Given the description of an element on the screen output the (x, y) to click on. 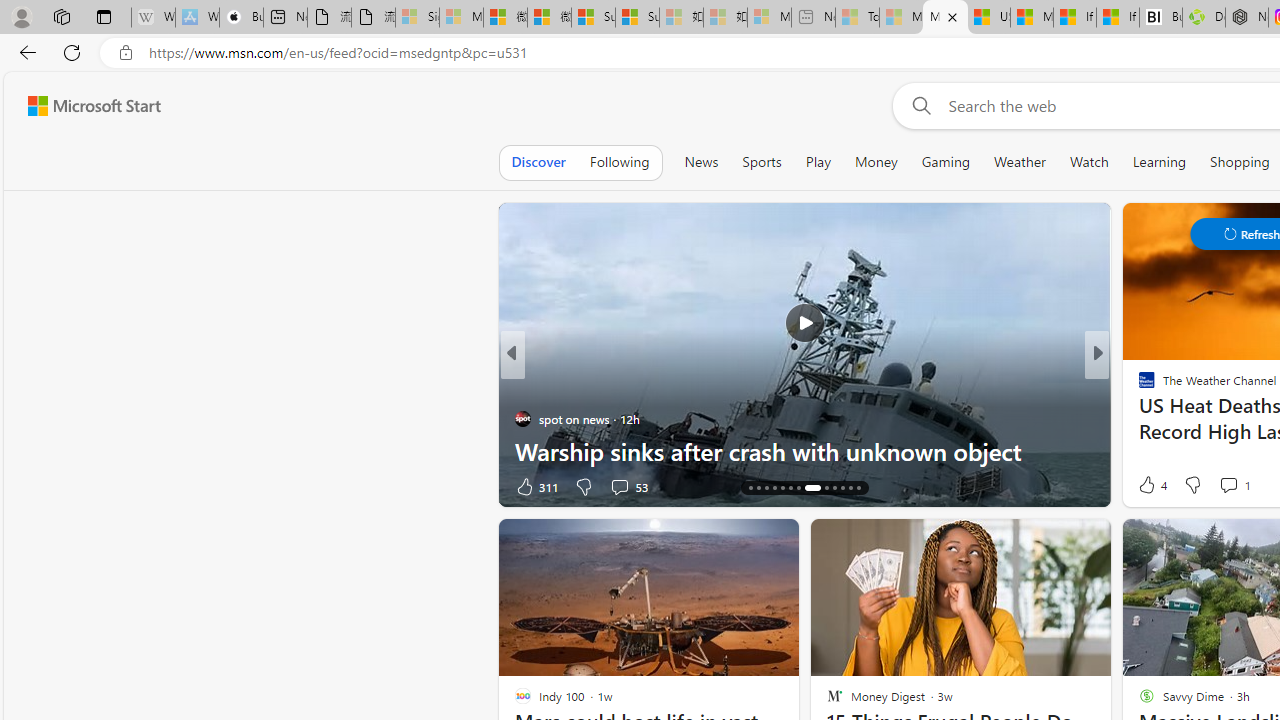
View comments 2 Comment (1234, 486)
Top Stories - MSN - Sleeping (857, 17)
spot on news (522, 418)
AutomationID: tab-21 (812, 487)
View comments 35 Comment (1234, 485)
AutomationID: tab-22 (825, 487)
View comments 2 Comment (1229, 485)
The Cool Down (1138, 386)
